Given the description of an element on the screen output the (x, y) to click on. 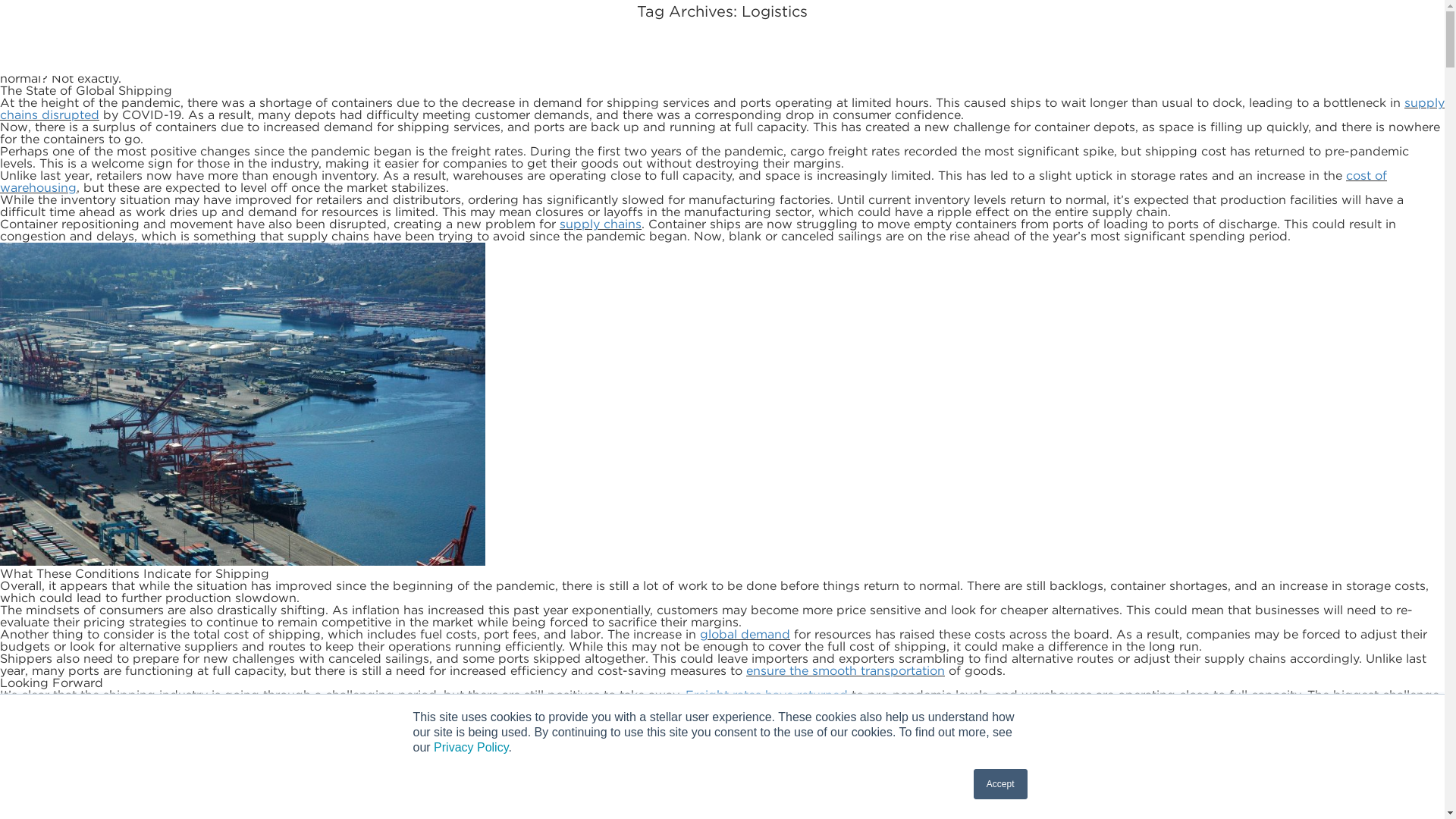
global demand (745, 634)
ensure the smooth transportation (844, 670)
BLOG (1011, 40)
Privacy Policy (470, 747)
pandemic as production and shipping (714, 23)
ABOUT (684, 40)
supply chains (600, 223)
cost of warehousing (693, 181)
RESULTS (916, 40)
INDUSTRIES (797, 40)
Freight rates have returned (766, 694)
CONTACT (1110, 40)
Accept (1000, 784)
